Given the description of an element on the screen output the (x, y) to click on. 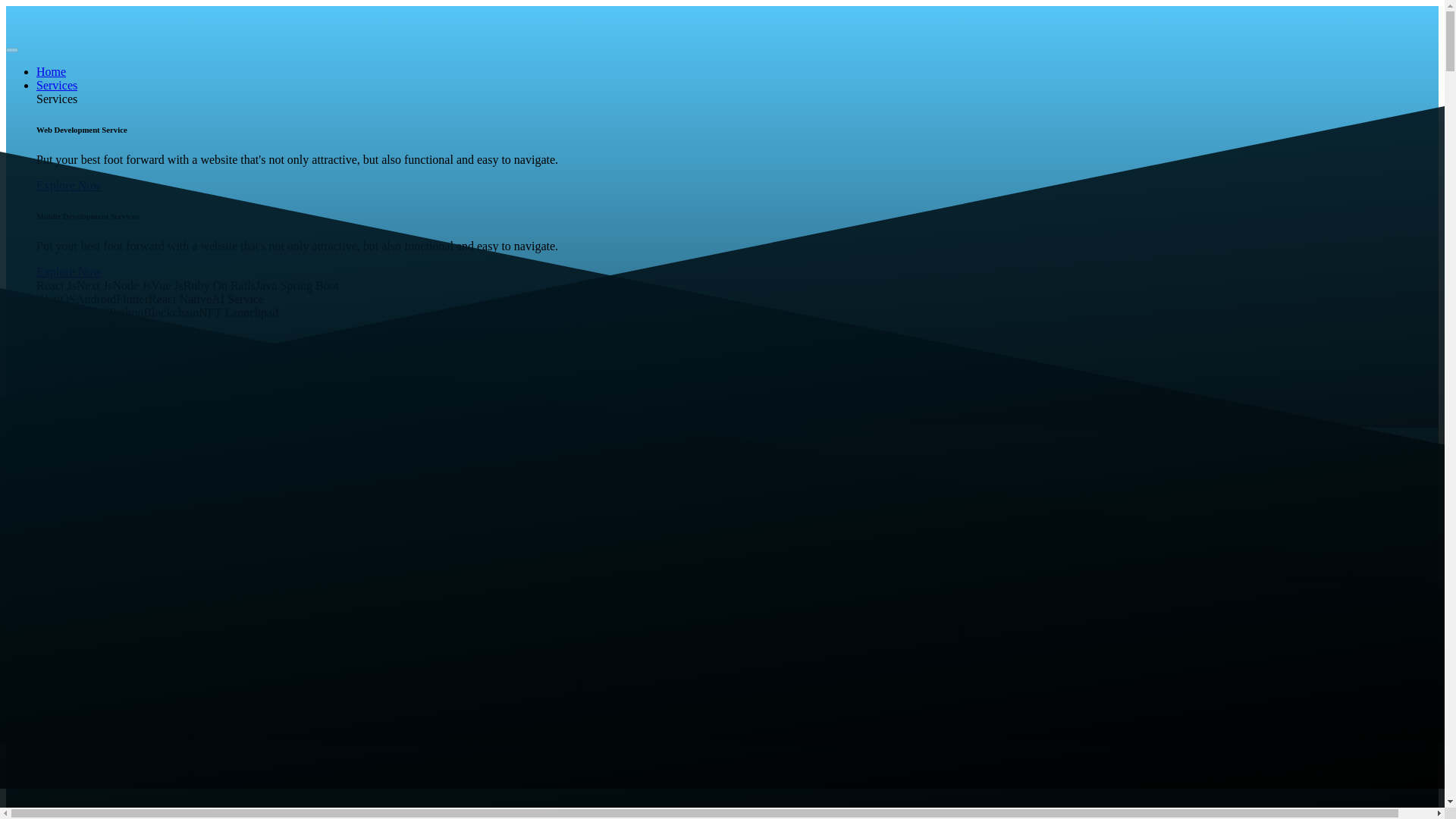
Contact Us (63, 380)
NFT Launchpad (238, 312)
Home (50, 71)
Blog (47, 367)
.Net (46, 298)
React Native (179, 298)
Explore Now (68, 271)
Ruby On Rails (219, 285)
Vue Js (167, 285)
Work (49, 353)
